Given the description of an element on the screen output the (x, y) to click on. 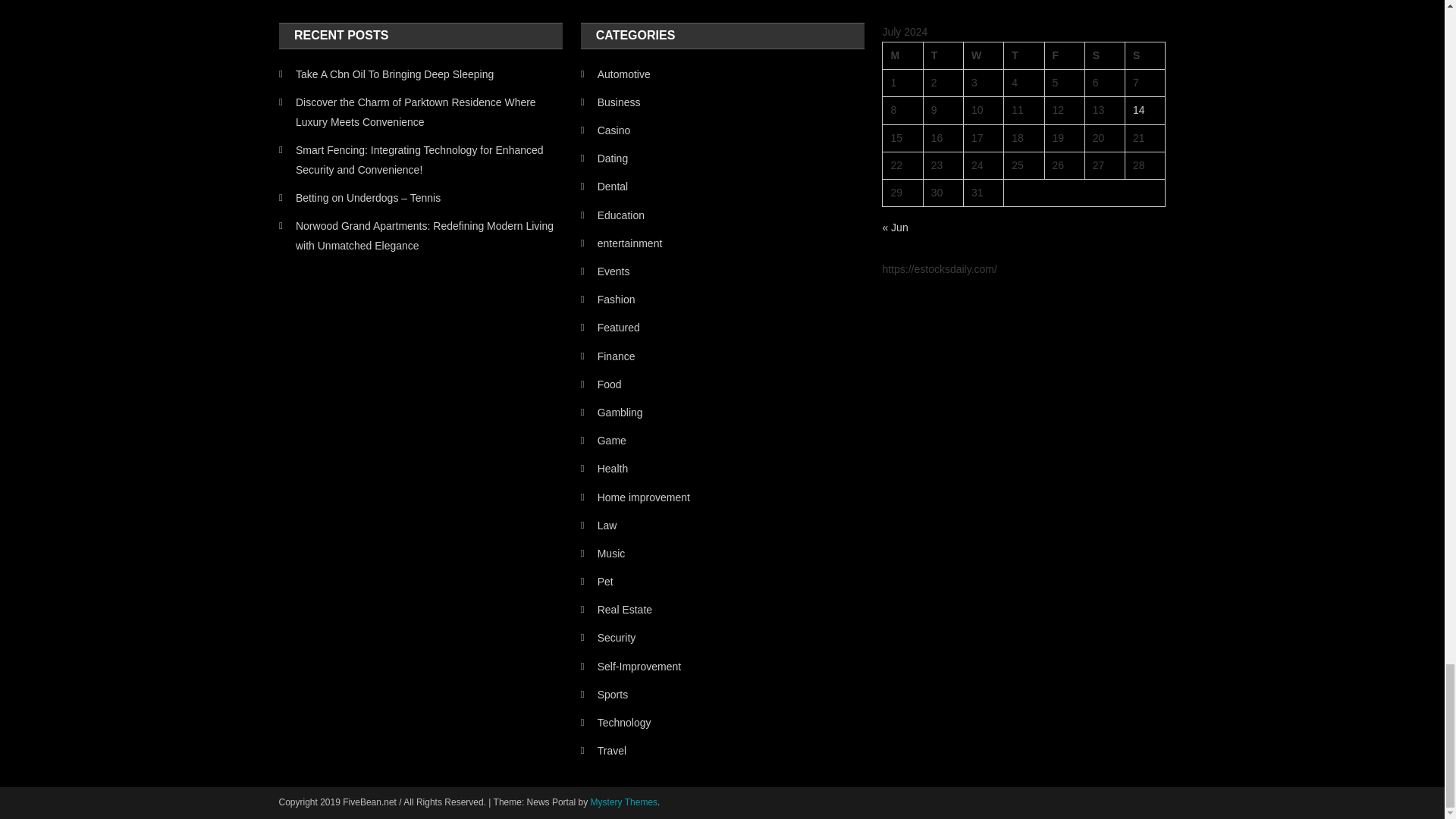
Tuesday (942, 55)
Monday (902, 55)
Saturday (1104, 55)
Sunday (1145, 55)
Thursday (1023, 55)
Wednesday (982, 55)
Friday (1063, 55)
